Given the description of an element on the screen output the (x, y) to click on. 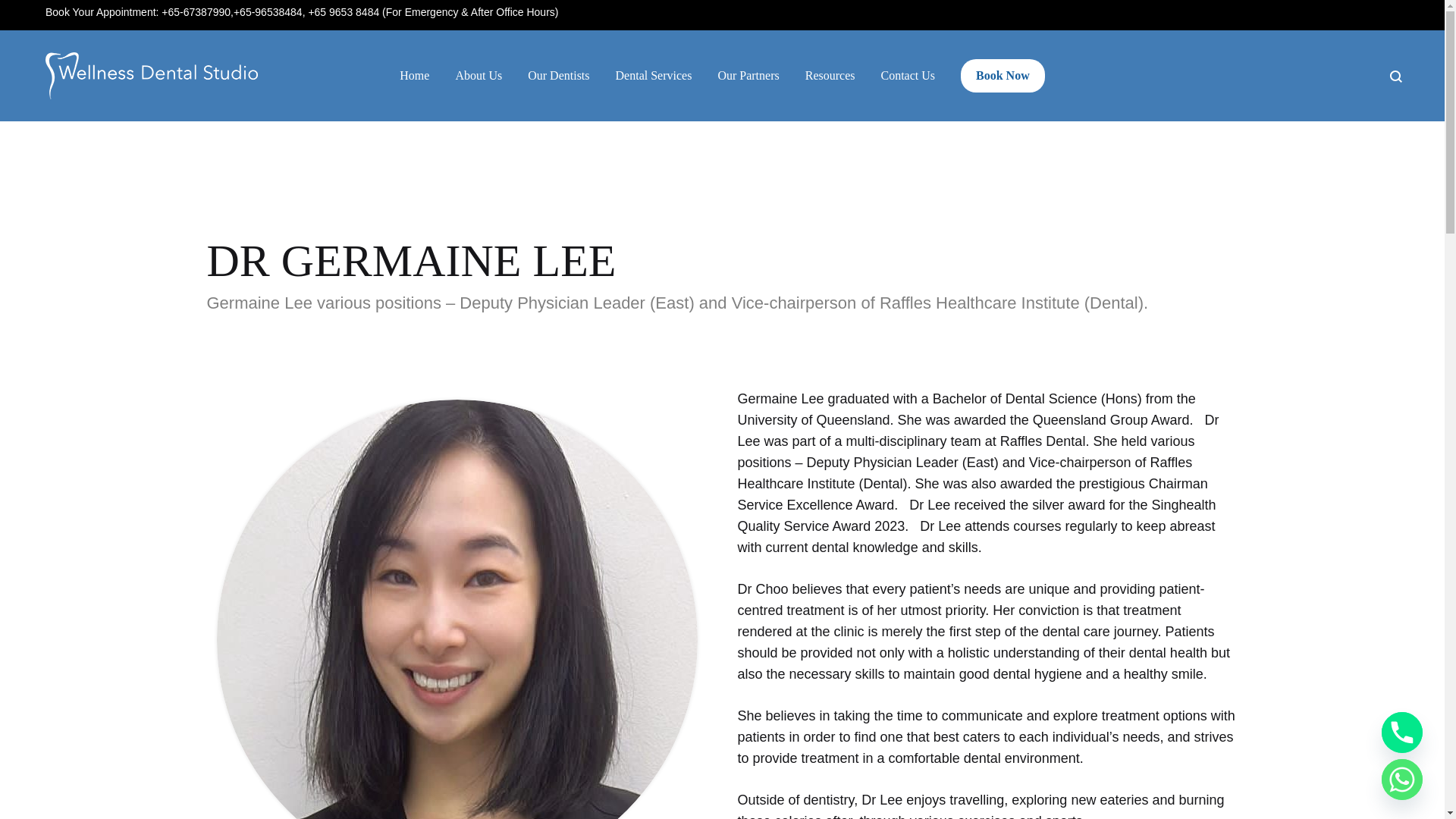
Our Dentists (558, 75)
Dental Services (654, 75)
About Us (478, 75)
Home (413, 75)
